Given the description of an element on the screen output the (x, y) to click on. 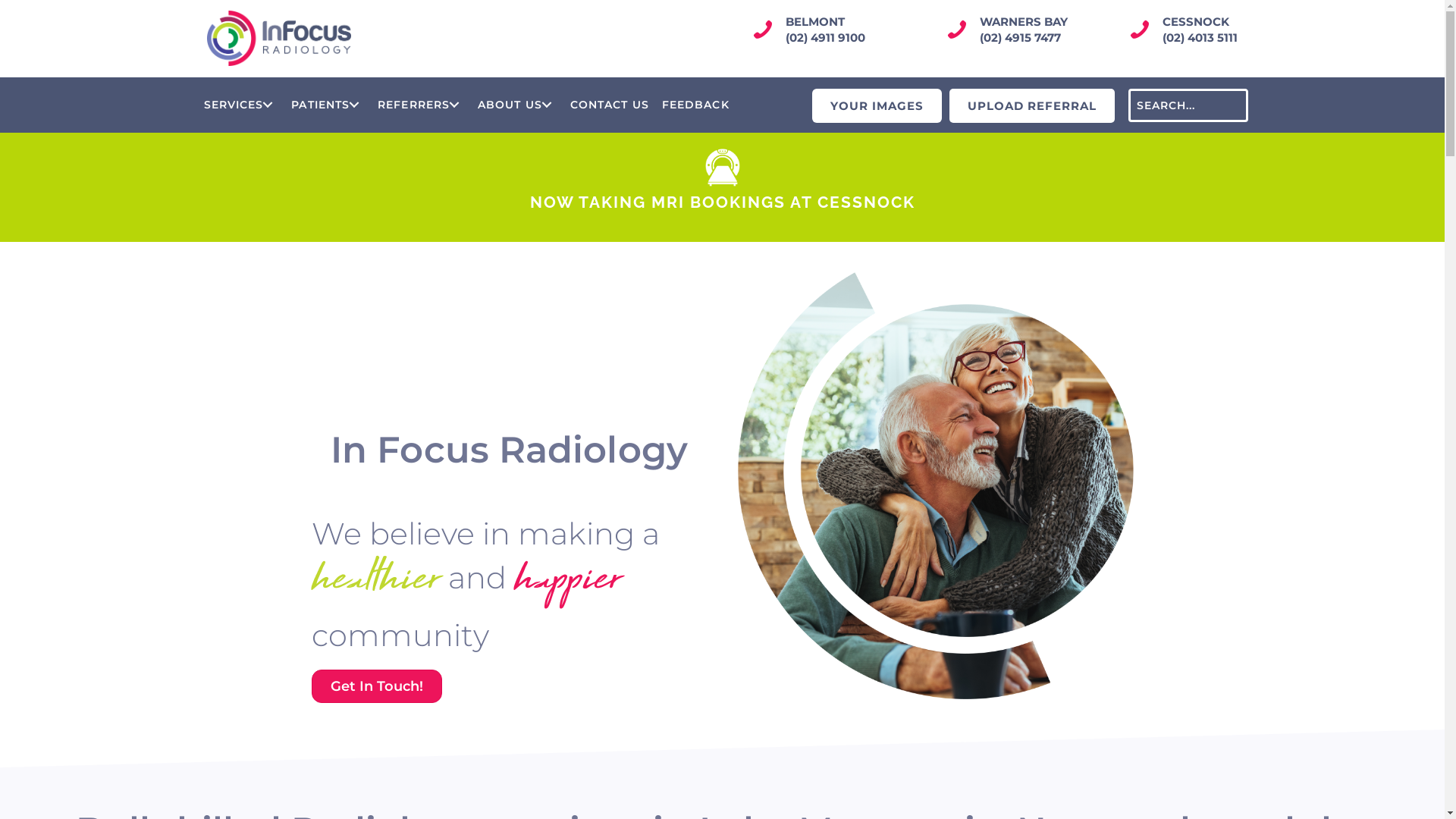
(02) 4911 9100 Element type: text (825, 37)
PATIENTS Element type: text (327, 104)
SERVICES Element type: text (240, 104)
CONTACT US Element type: text (609, 104)
REFERRERS Element type: text (421, 104)
(02) 4013 5111 Element type: text (1199, 37)
YOUR IMAGES Element type: text (876, 105)
In_Focus_Header_Logo Element type: hover (278, 37)
(02) 4915 7477 Element type: text (1019, 37)
MRI Element type: hover (722, 167)
UPLOAD REFERRAL Element type: text (1031, 105)
ABOUT US Element type: text (517, 104)
Get In Touch! Element type: text (375, 685)
FEEDBACK Element type: text (695, 104)
Home_Page_Header_Image Element type: hover (934, 485)
